Given the description of an element on the screen output the (x, y) to click on. 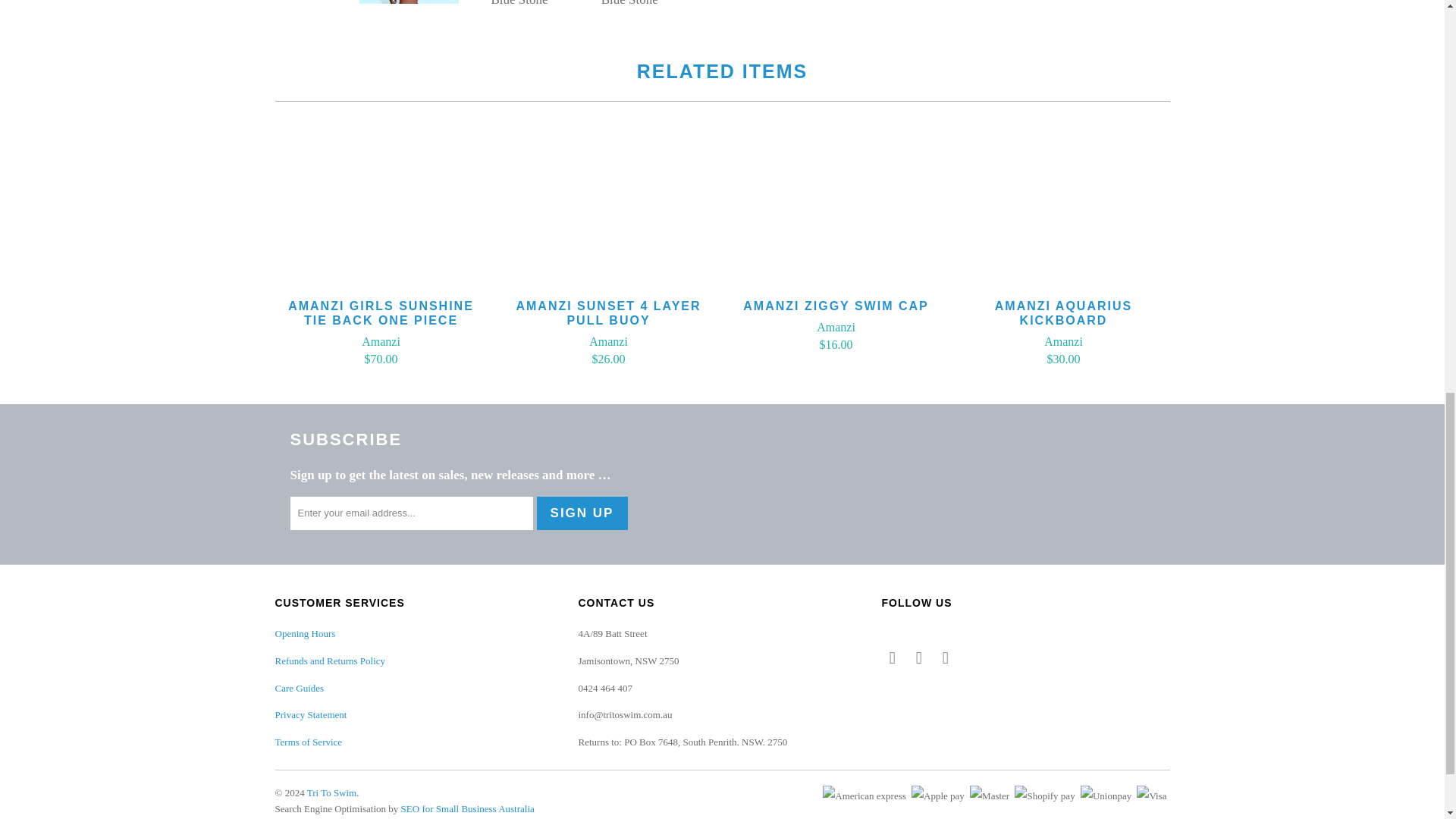
Sign Up (582, 512)
